Given the description of an element on the screen output the (x, y) to click on. 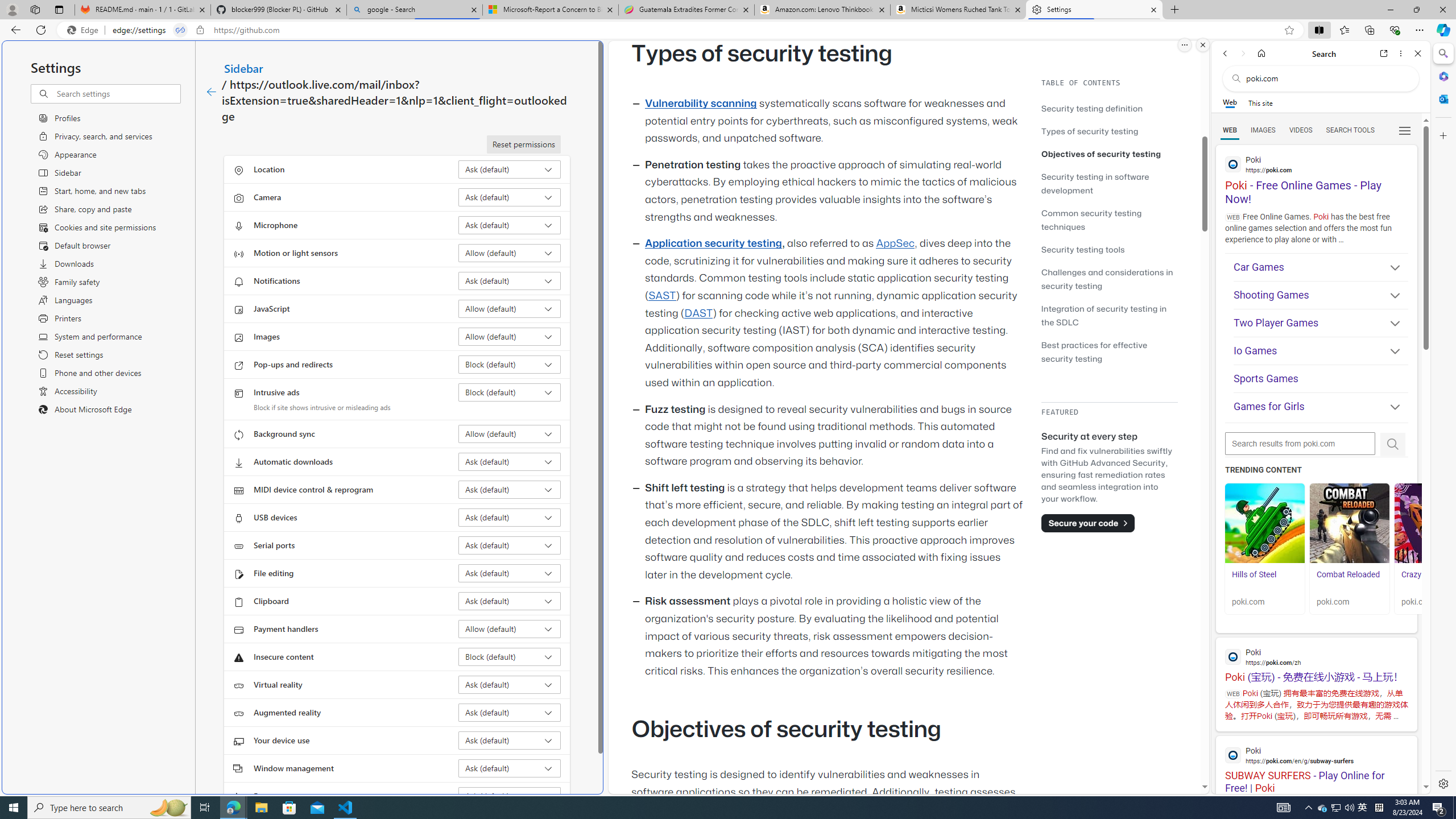
Open link in new tab (1383, 53)
Challenges and considerations in security testing (1109, 279)
File editing Ask (default) (509, 573)
Search results from poki.com (1299, 443)
This site scope (1259, 102)
Hills of Steel (1264, 523)
Best practices for effective security testing (1109, 351)
JavaScript Allow (default) (509, 308)
Two Player Games (1320, 323)
Games for Girls (1320, 406)
